Given the description of an element on the screen output the (x, y) to click on. 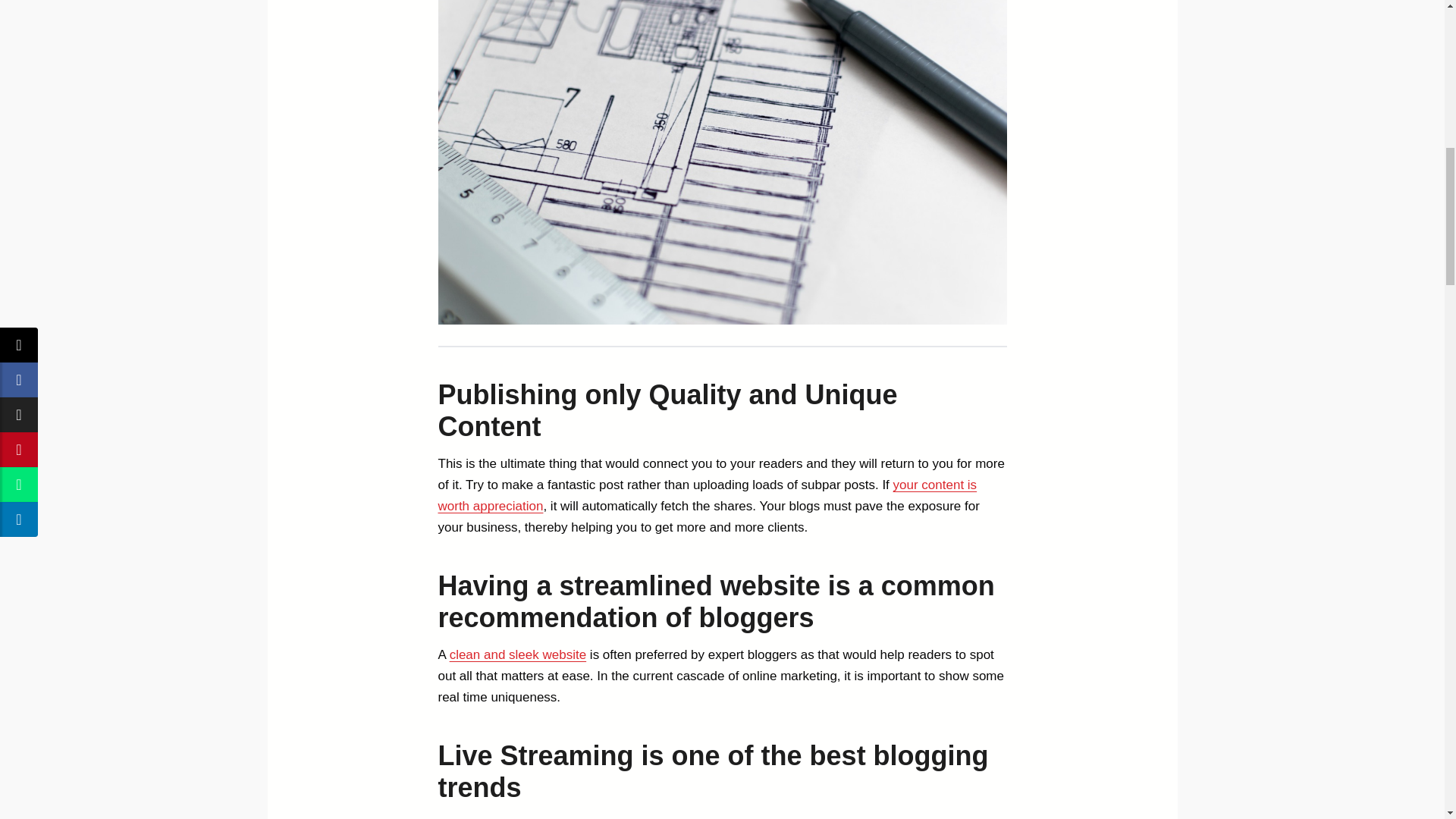
clean and sleek website (517, 654)
streaming events (823, 818)
your content is worth appreciation (707, 495)
